Given the description of an element on the screen output the (x, y) to click on. 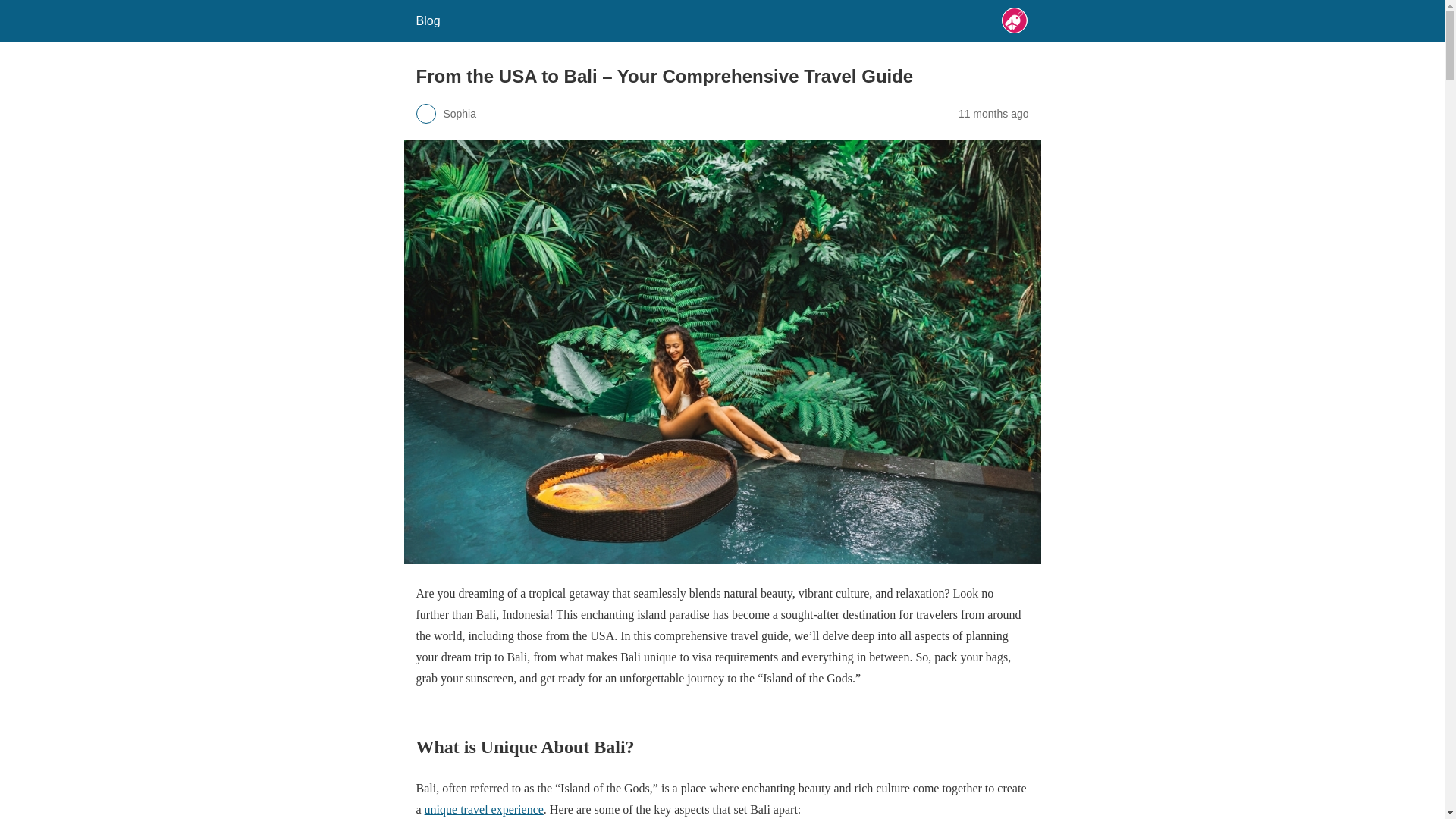
unique travel experience (484, 809)
Blog (426, 20)
